Given the description of an element on the screen output the (x, y) to click on. 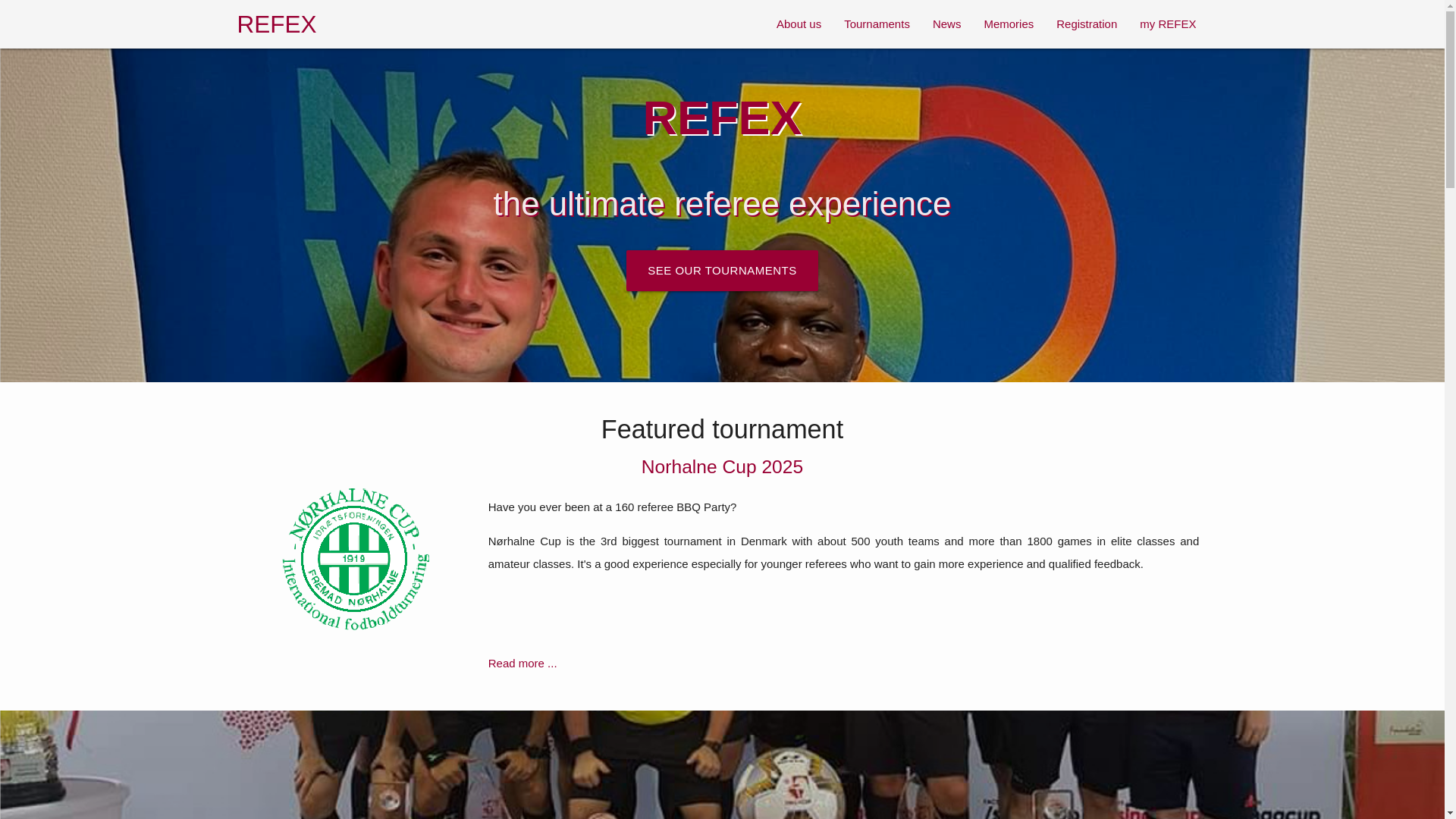
my REFEX (1167, 24)
Norhalne Cup 2025 (722, 466)
Read more ... (522, 662)
Memories (1008, 24)
SEE OUR TOURNAMENTS (721, 270)
Registration (1086, 24)
About us (798, 24)
Tournaments (876, 24)
News (946, 24)
REFEX (275, 24)
